Given the description of an element on the screen output the (x, y) to click on. 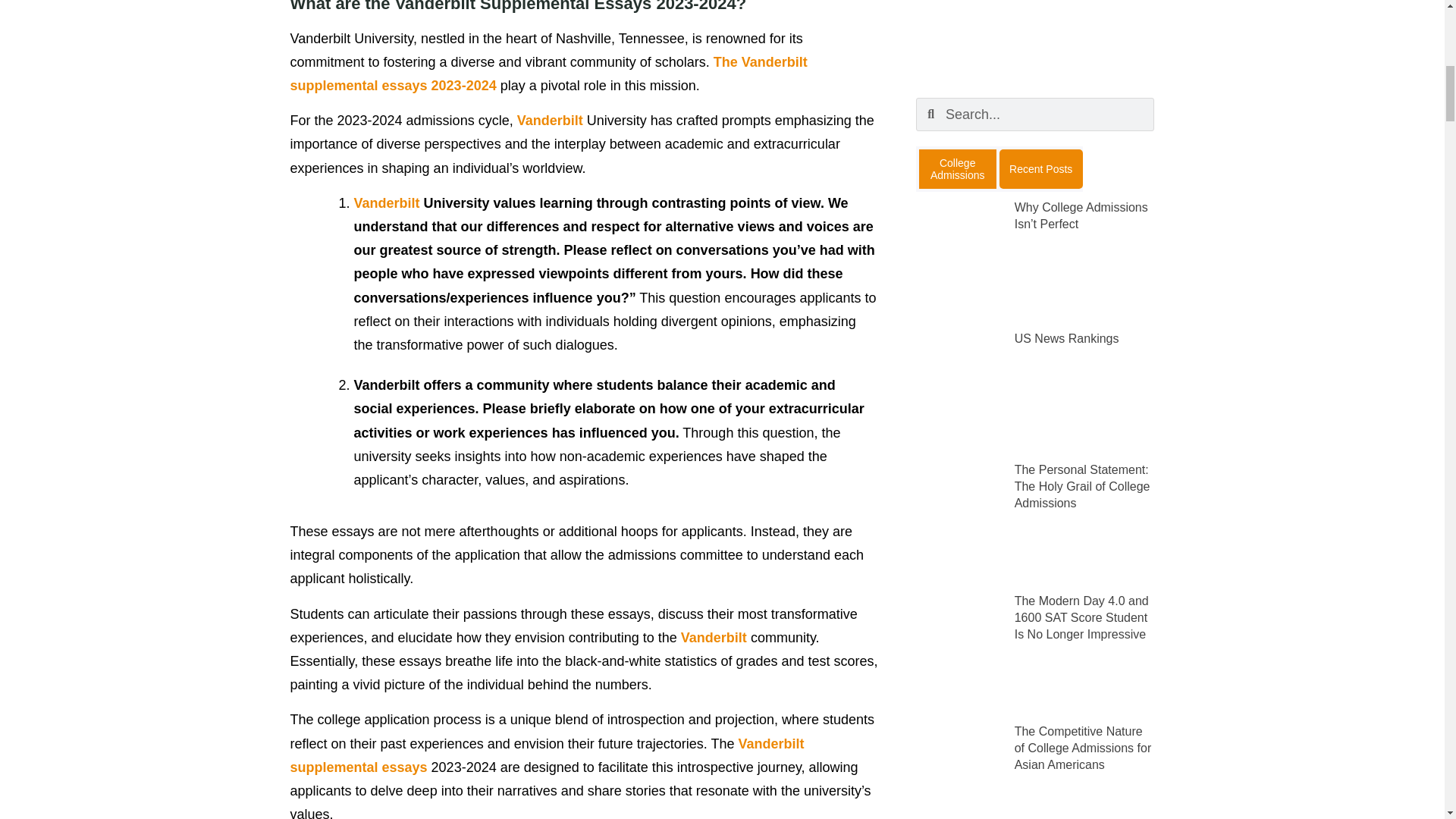
Vanderbilt (549, 120)
Vanderbilt supplemental essays (546, 755)
Vanderbilt (386, 202)
